Given the description of an element on the screen output the (x, y) to click on. 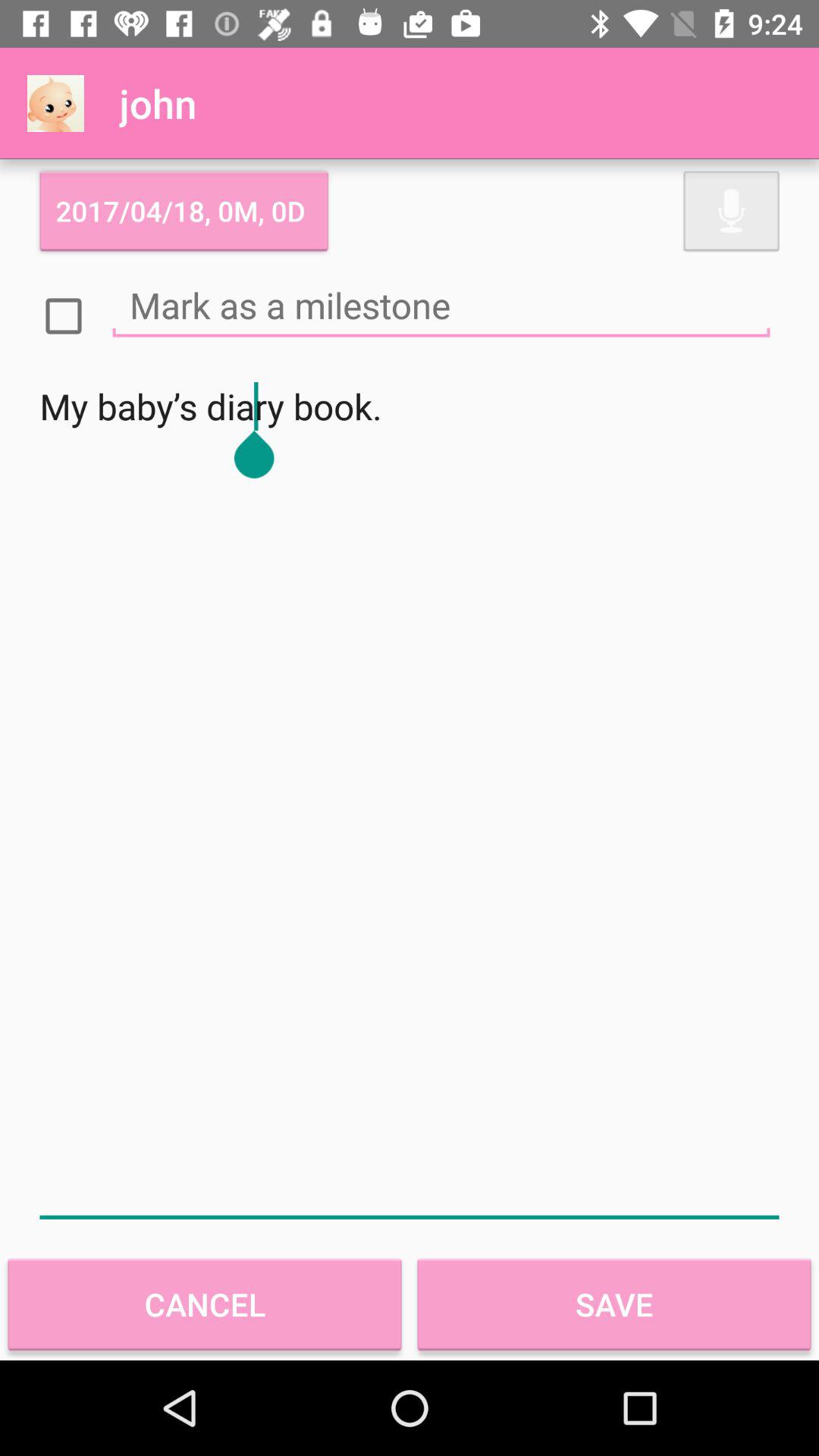
tap icon at the center (409, 797)
